Given the description of an element on the screen output the (x, y) to click on. 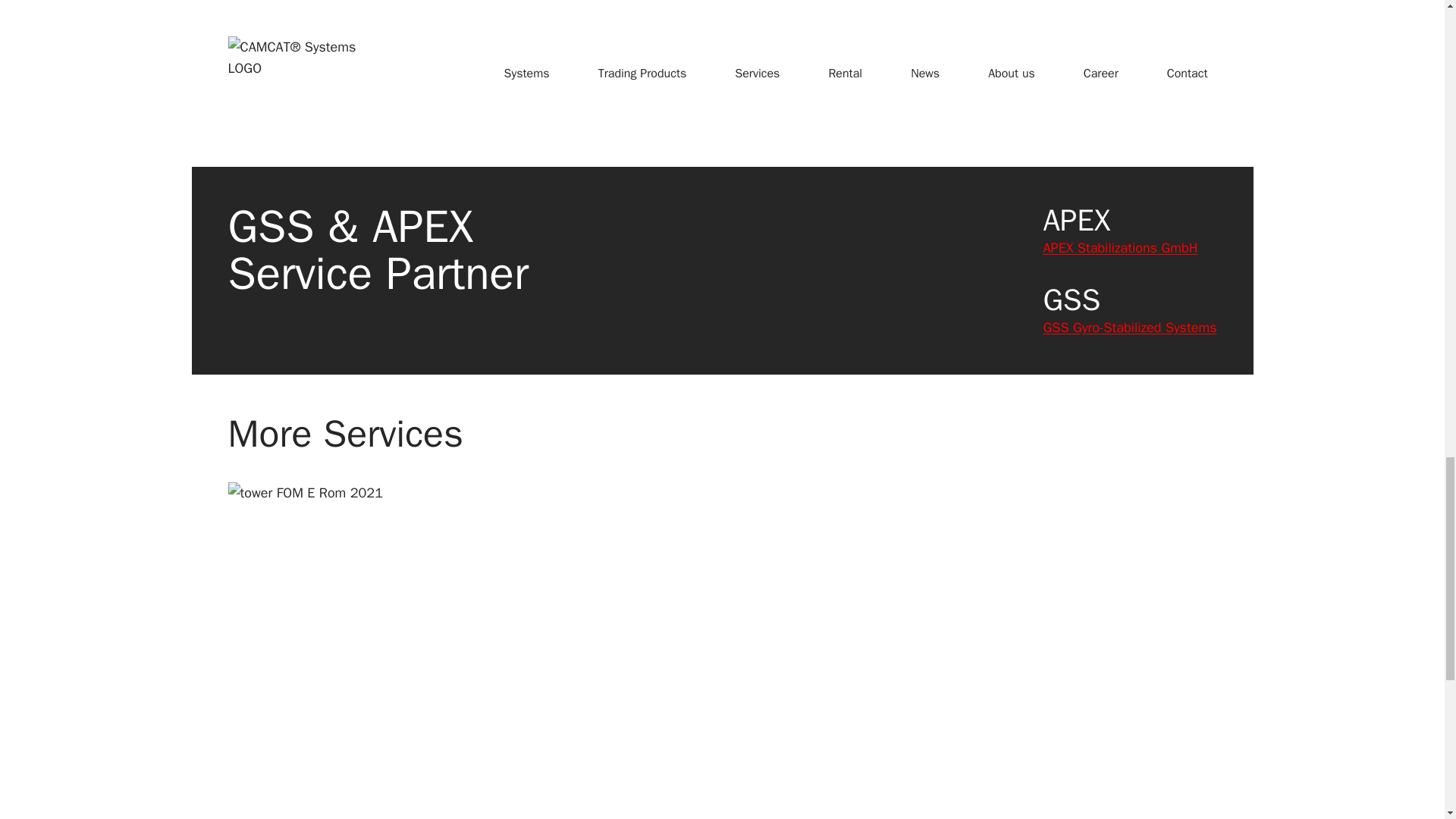
GSS Gyro-Stabilized Systems (1128, 327)
